Given the description of an element on the screen output the (x, y) to click on. 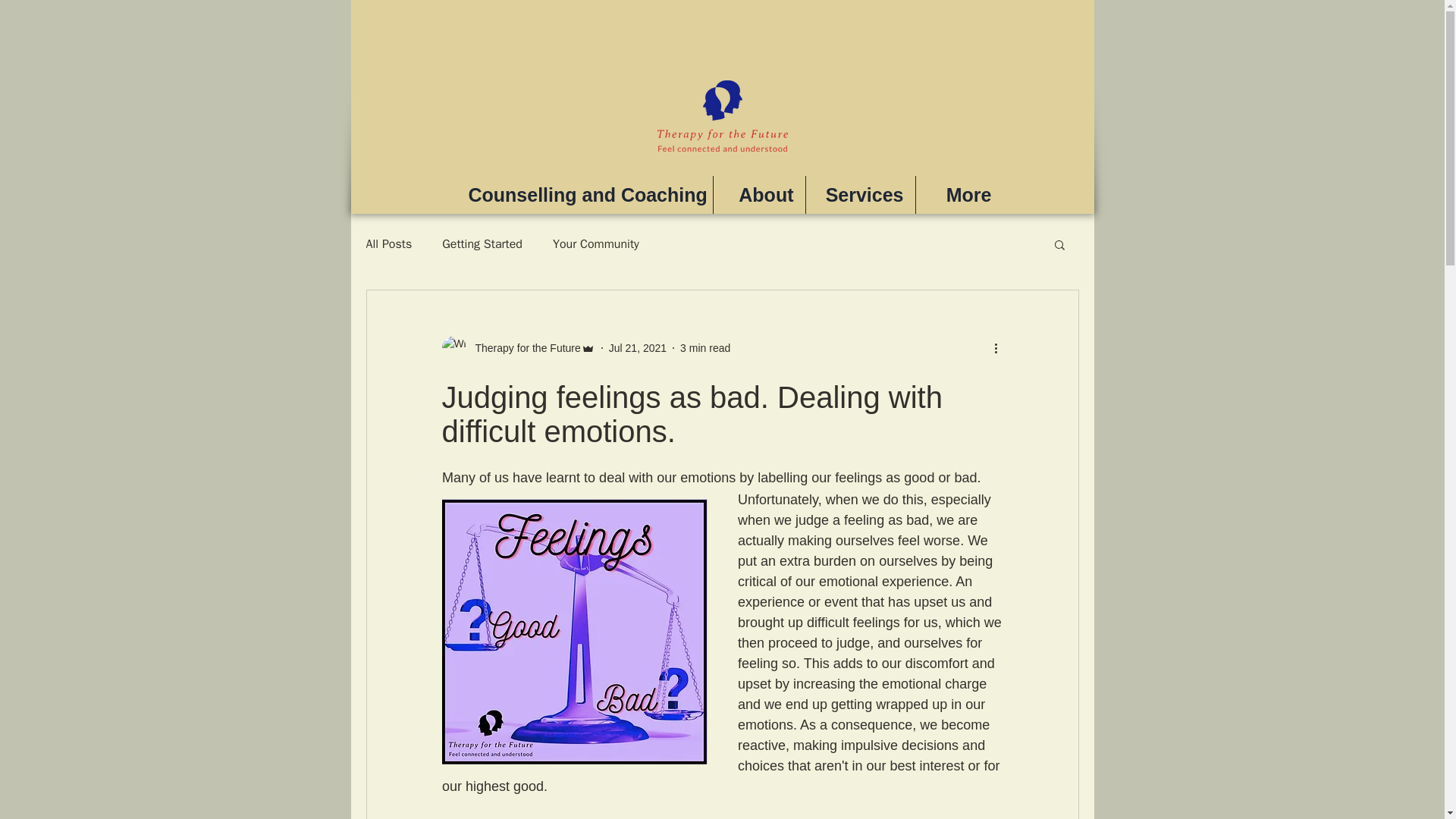
About (759, 194)
Counselling and Coaching (584, 194)
Therapy for the Future (517, 347)
All Posts (388, 244)
3 min read (704, 346)
Jul 21, 2021 (637, 346)
Your Community (596, 244)
Services (859, 194)
Getting Started (482, 244)
Therapy for the Future  (522, 347)
